Given the description of an element on the screen output the (x, y) to click on. 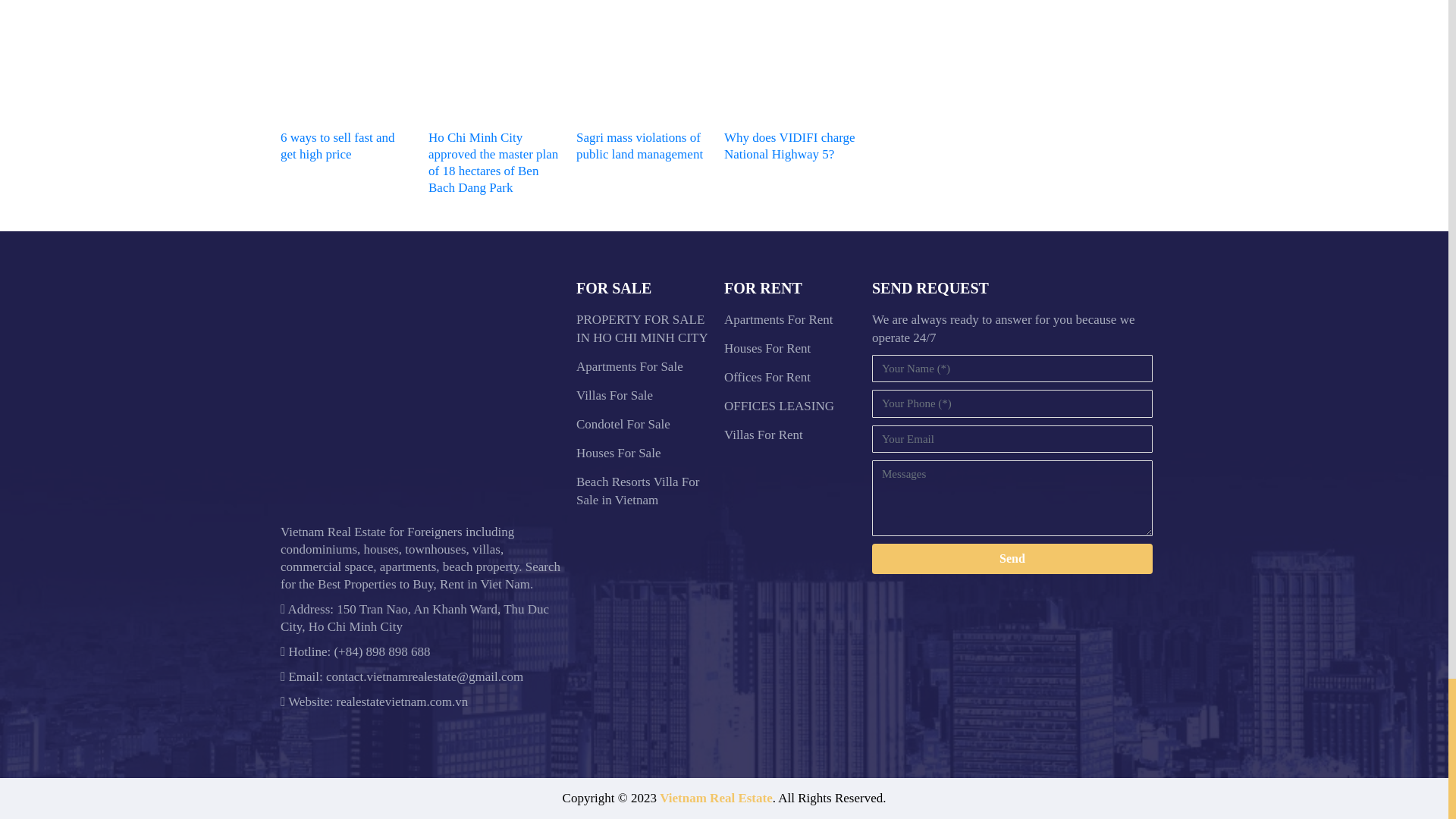
Send (1012, 558)
